Given the description of an element on the screen output the (x, y) to click on. 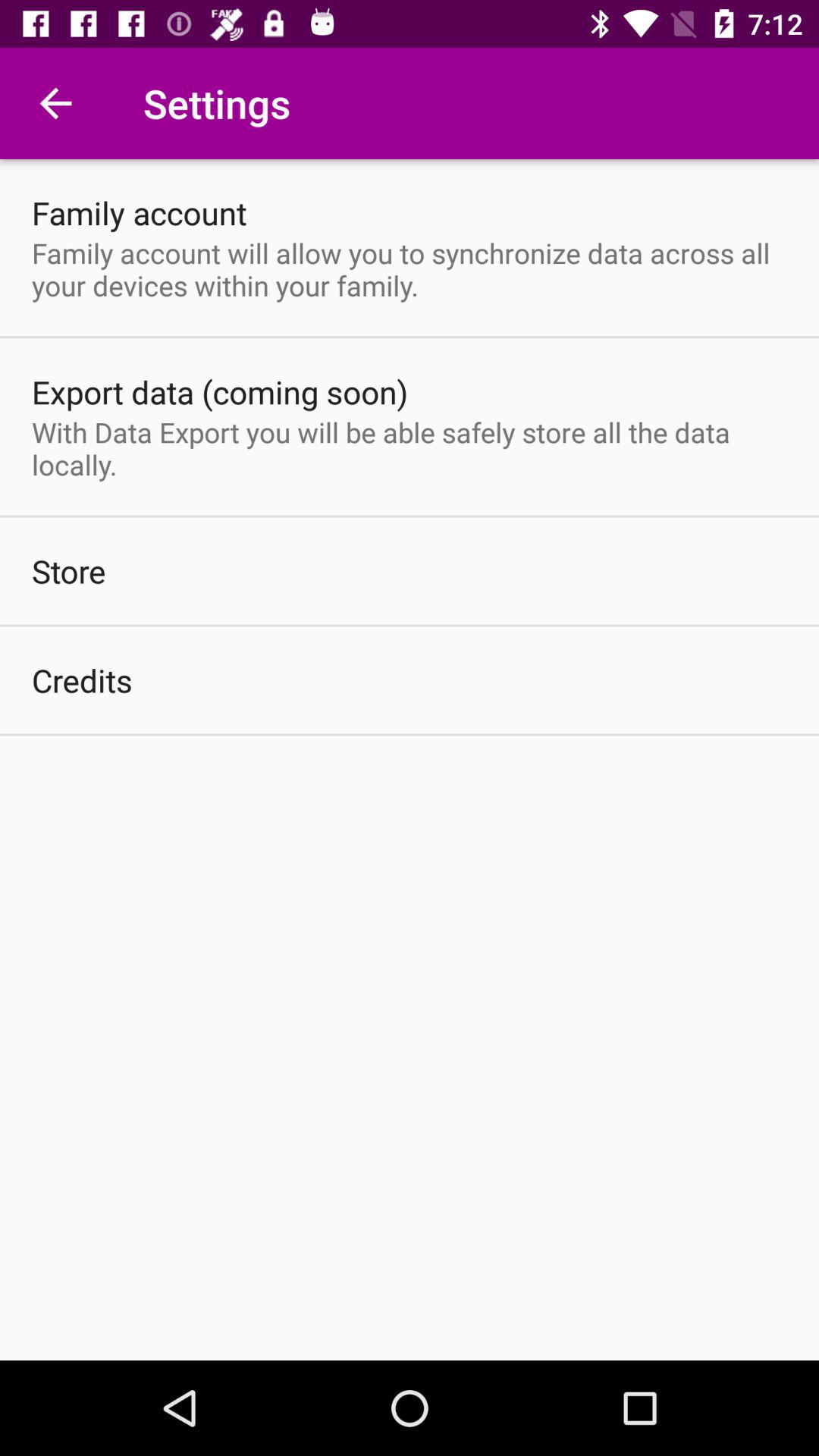
turn on icon above the family account item (55, 103)
